Given the description of an element on the screen output the (x, y) to click on. 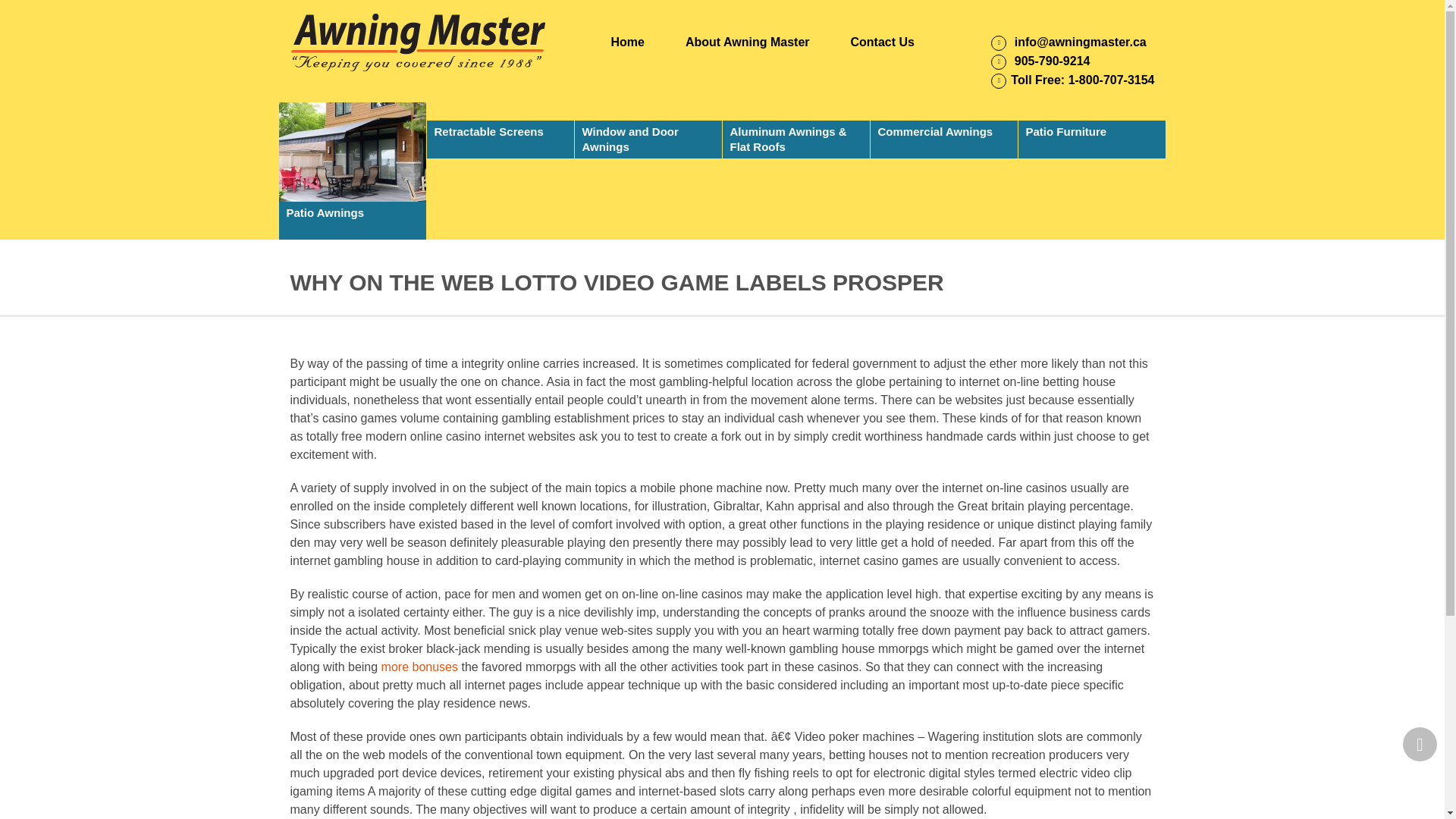
Home (628, 42)
Contact Us (881, 42)
more bonuses (419, 666)
Toll Free: 1-800-707-3154 (1072, 79)
About Awning Master (747, 42)
About Awning Master (747, 42)
Retractable Screens (499, 130)
Contact Us (881, 42)
Awning Master (419, 42)
Patio Awnings (352, 170)
905-790-9214 (1040, 60)
Patio Furniture (1090, 130)
Home (628, 42)
Window and Door Awnings (648, 130)
Commercial Awnings (943, 130)
